Given the description of an element on the screen output the (x, y) to click on. 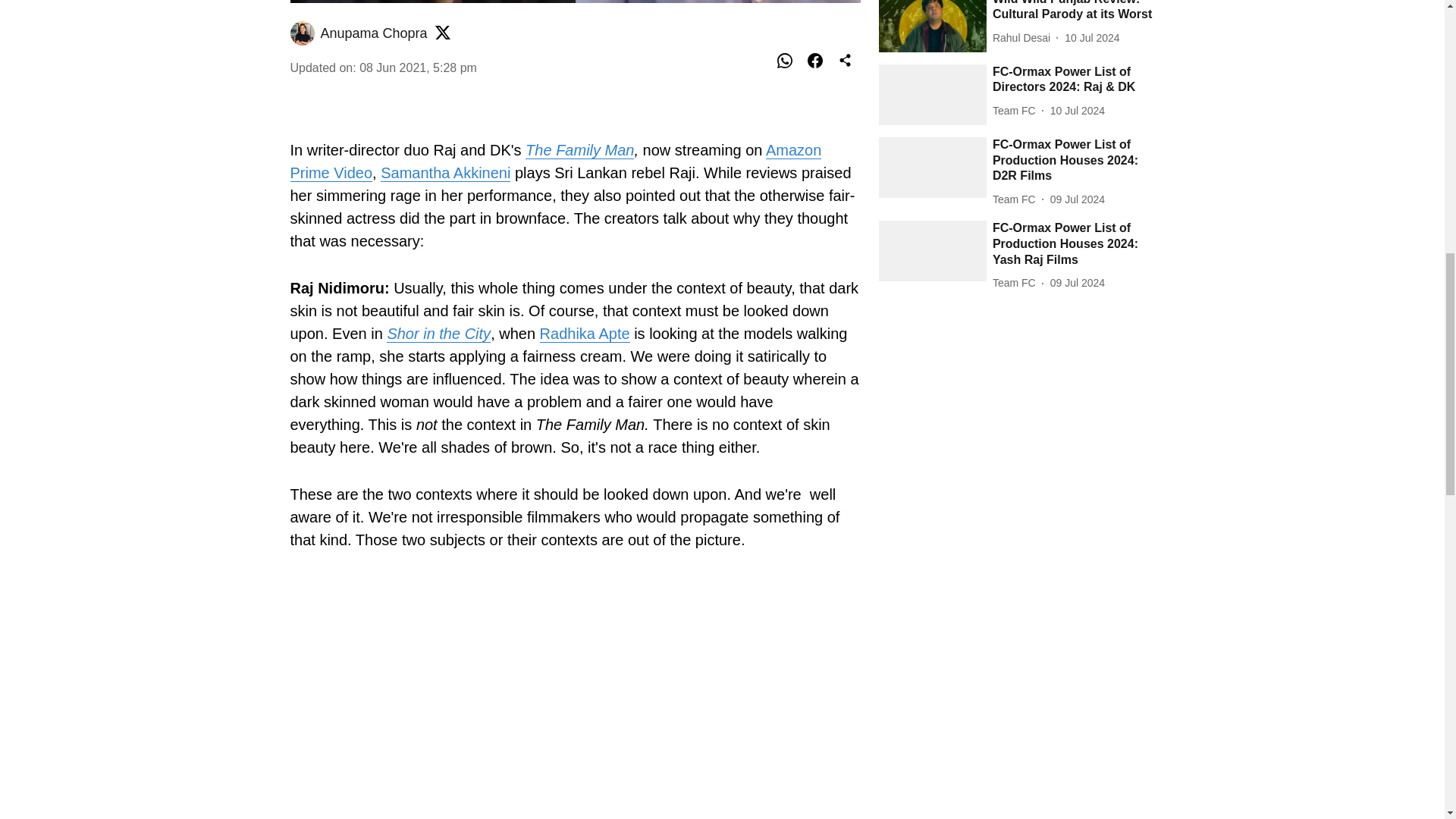
2024-07-09 04:15 (1077, 199)
2024-07-09 02:40 (1077, 283)
2024-07-10 09:45 (1091, 37)
2024-07-10 03:35 (1077, 110)
